Given the description of an element on the screen output the (x, y) to click on. 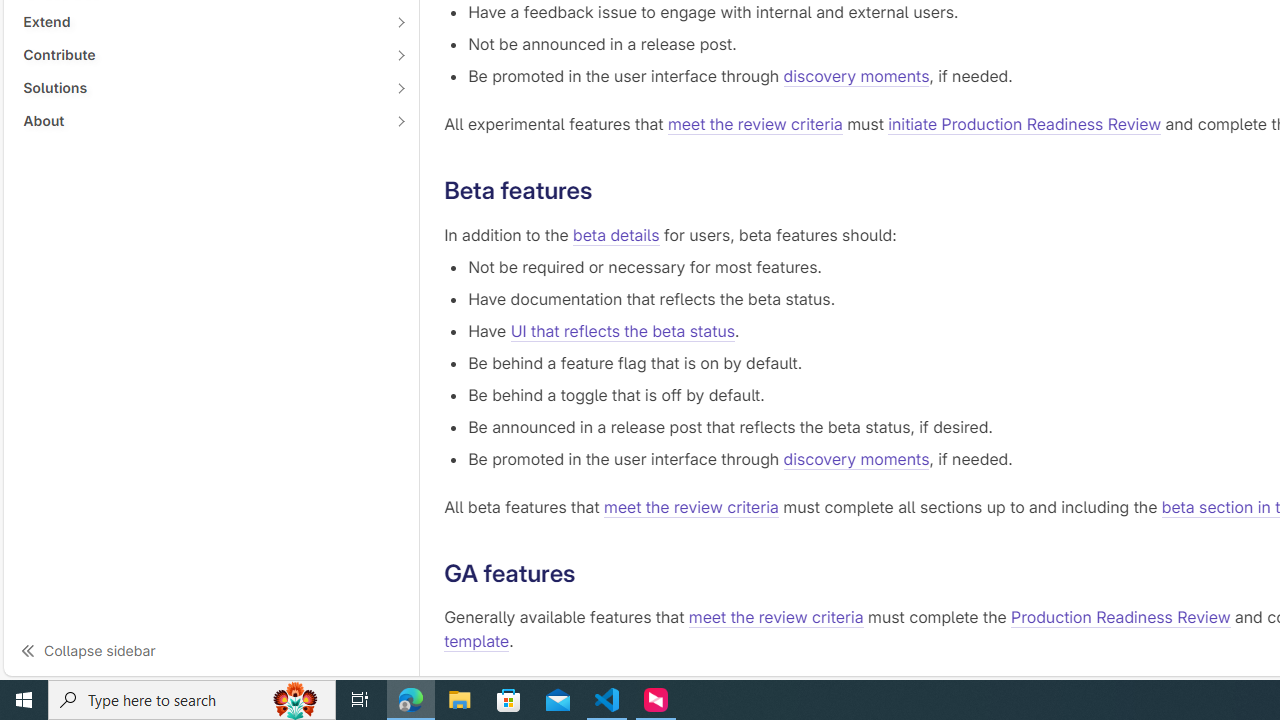
Extend (199, 21)
initiate Production Readiness Review (1025, 124)
Solutions (199, 87)
meet the review criteria (776, 617)
beta details (616, 234)
UI that reflects the beta status (621, 330)
Contribute (199, 54)
Collapse sidebar (211, 650)
discovery moments (856, 458)
Production Readiness Review (1121, 617)
Permalink (591, 573)
